Given the description of an element on the screen output the (x, y) to click on. 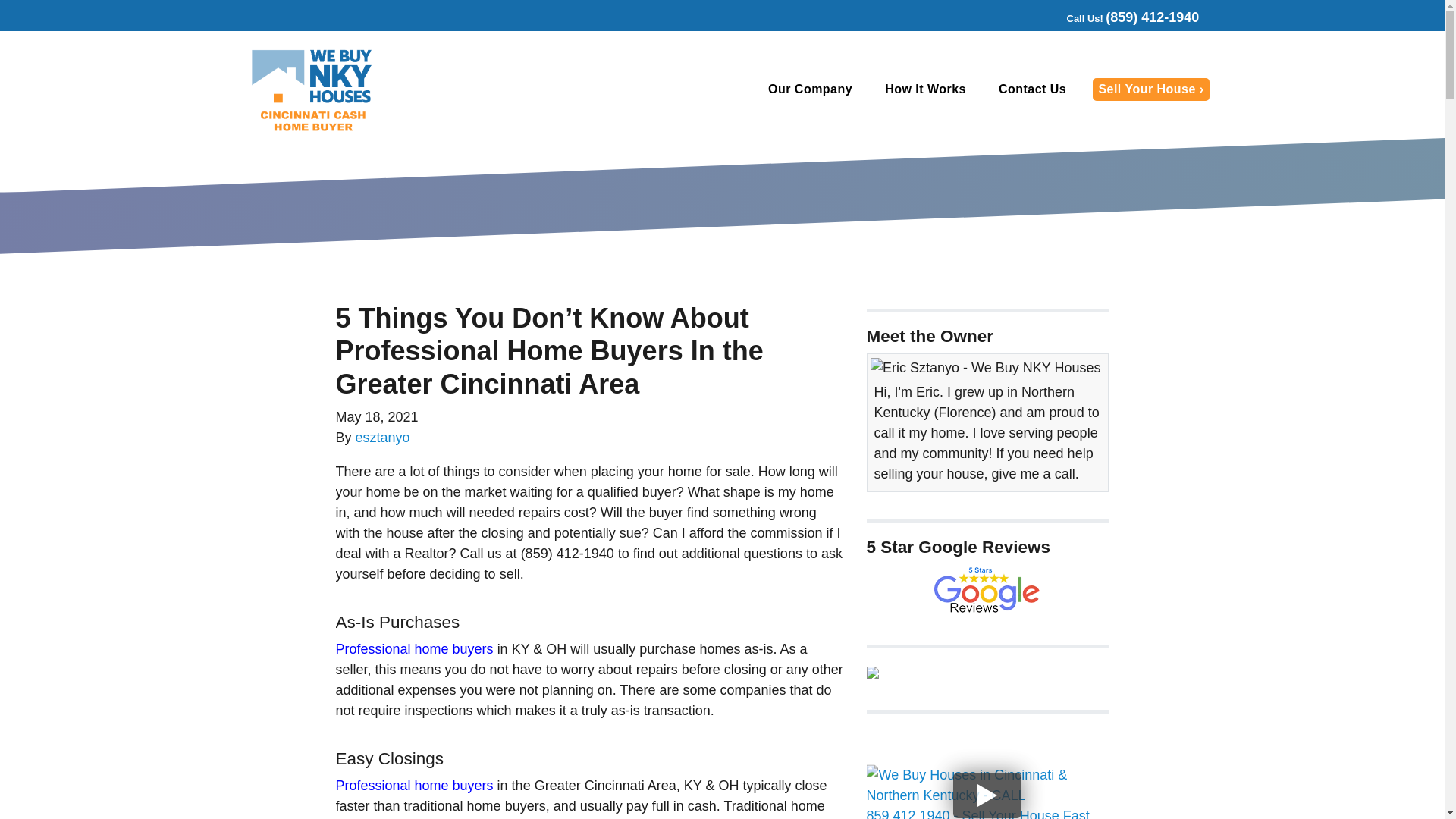
Professional home buyers (413, 648)
Open Submenu (977, 89)
Open Submenu (864, 89)
How It Works (923, 89)
esztanyo (382, 437)
Professional home buyers (413, 785)
Our Company (808, 89)
We Buy Houses In Cincinnati and Northern Kentucky (987, 590)
Contact Us (1031, 89)
